Given the description of an element on the screen output the (x, y) to click on. 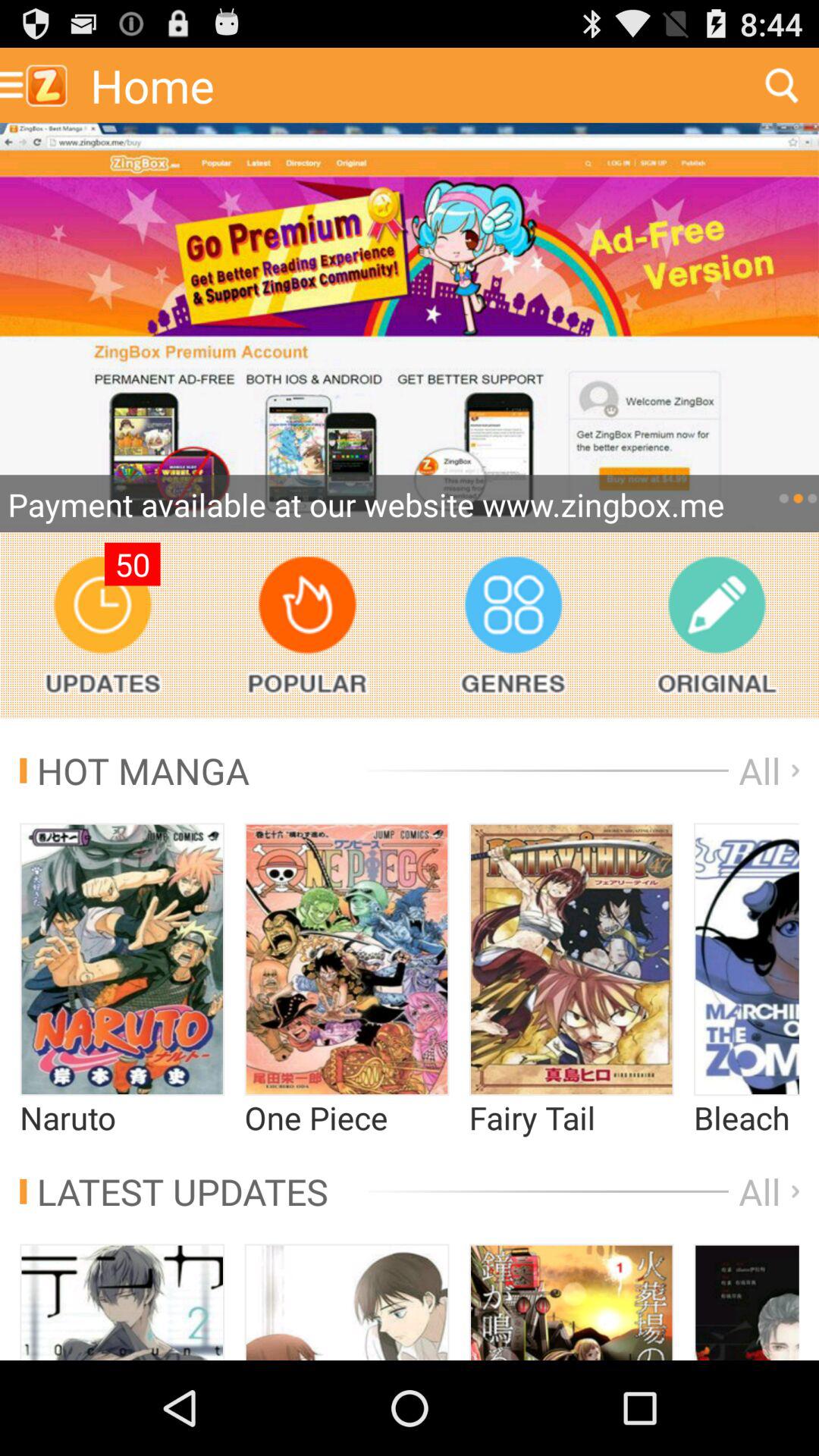
see what 's popular (306, 625)
